Given the description of an element on the screen output the (x, y) to click on. 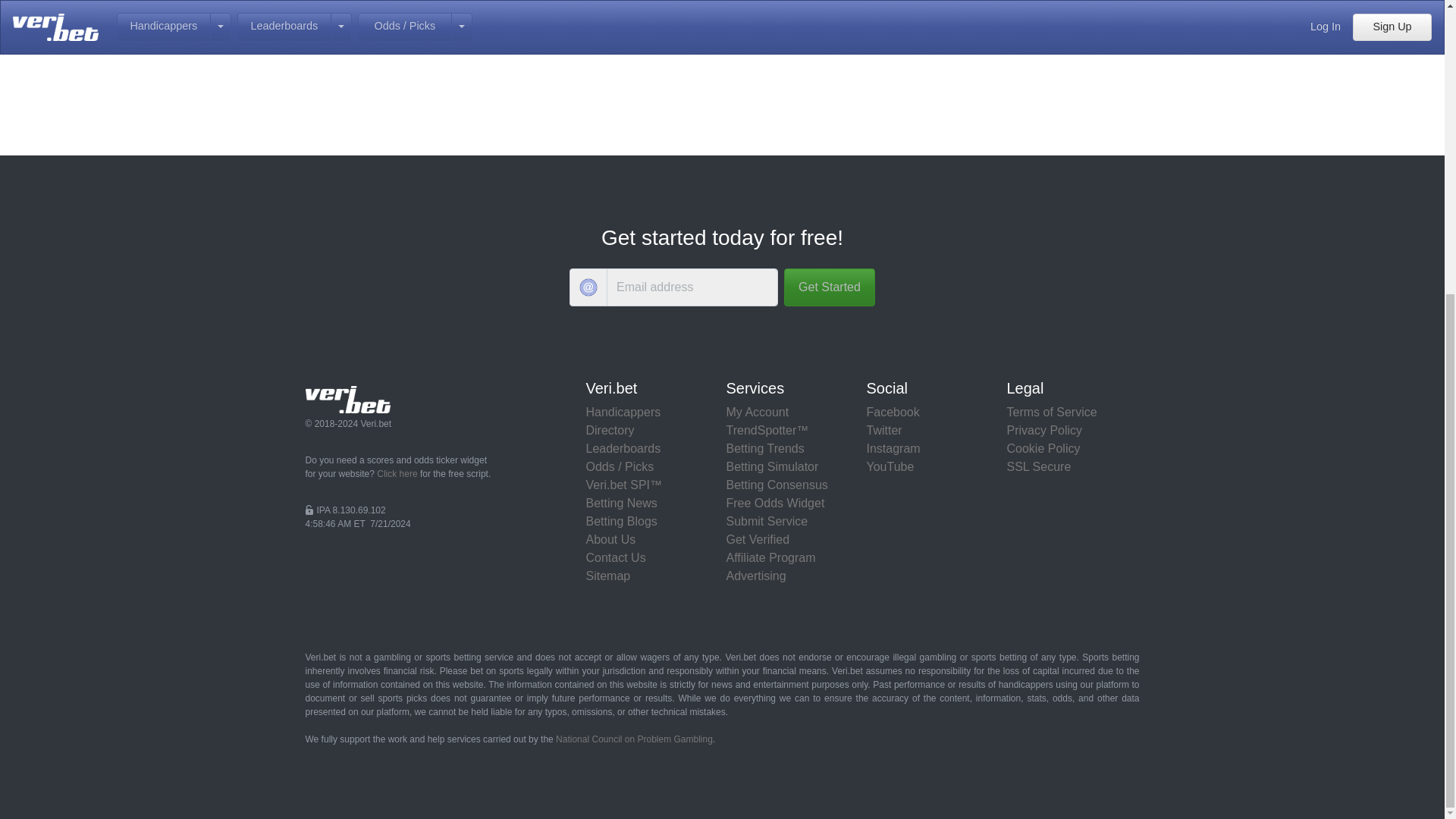
Click here (396, 473)
Get Started (829, 287)
